Given the description of an element on the screen output the (x, y) to click on. 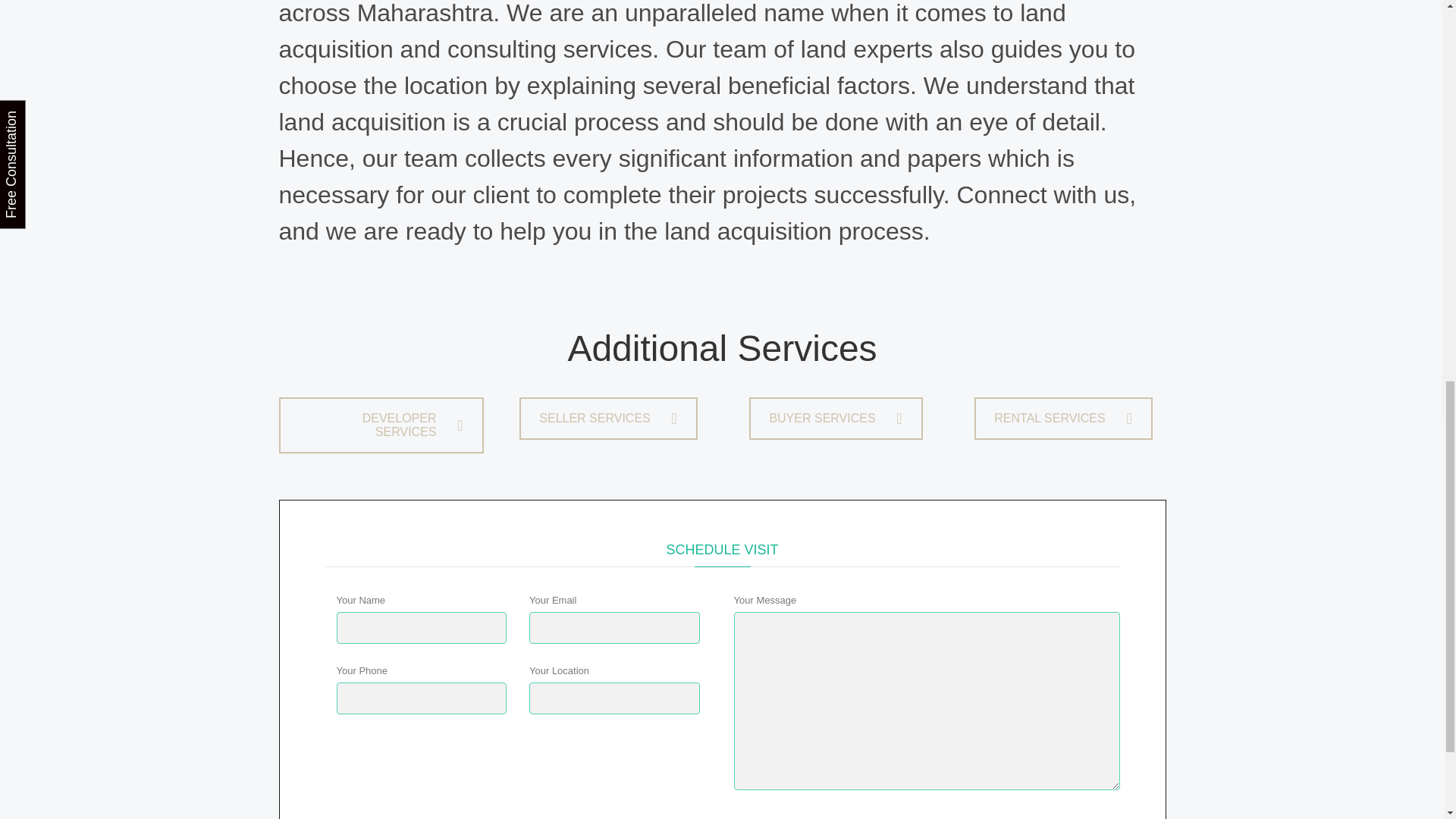
BUYER SERVICES (835, 418)
DEVELOPER SERVICES (381, 425)
RENTAL SERVICES (1062, 418)
SELLER SERVICES (608, 418)
